Given the description of an element on the screen output the (x, y) to click on. 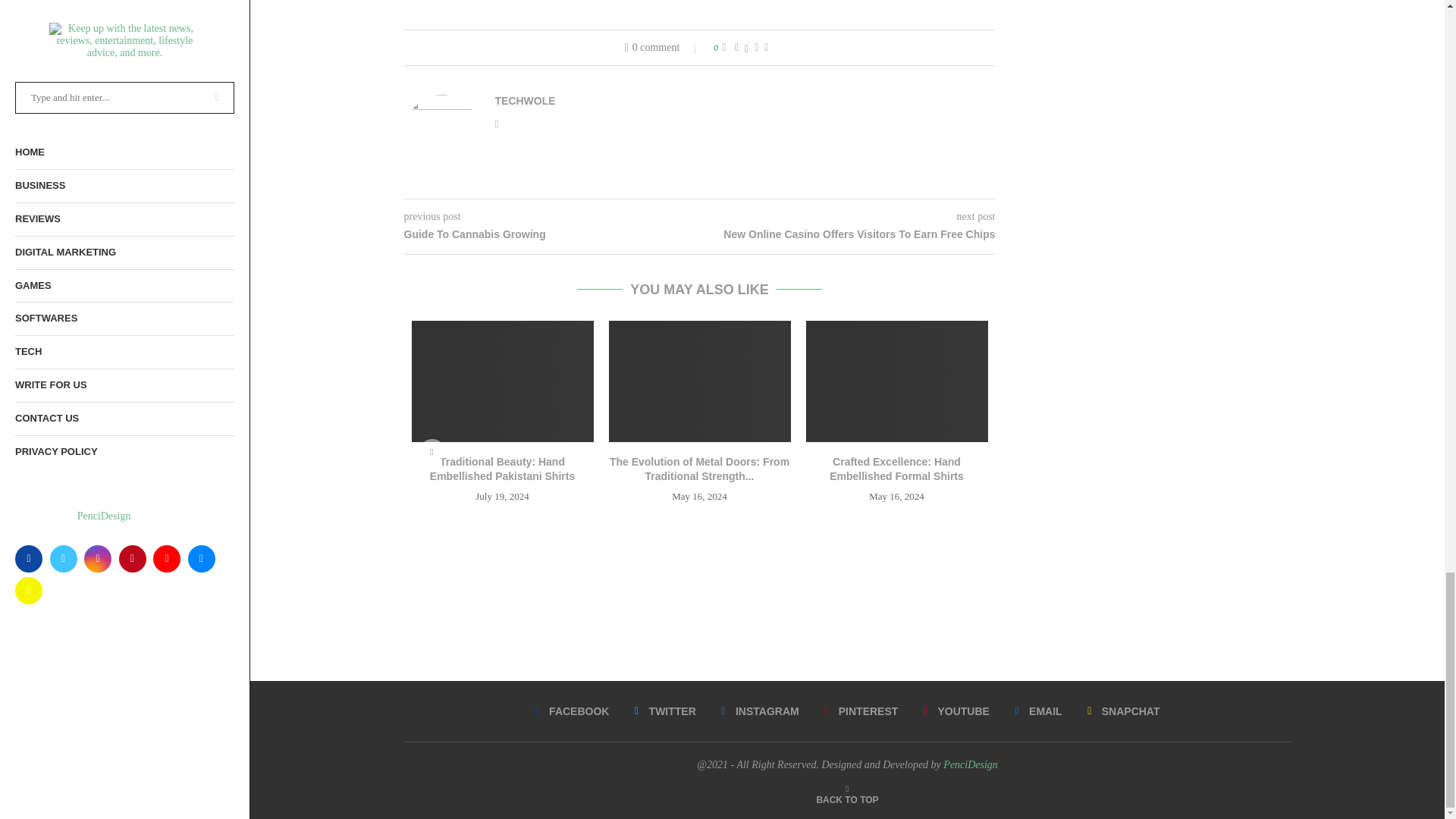
Crafted Excellence: Hand Embellished Formal Shirts (896, 381)
Guide To Cannabis Growing (550, 234)
Traditional Beauty: Hand Embellished Pakistani Shirts (501, 381)
The Evolution of Metal Doors: From Traditional Strength... (699, 469)
New Online Casino Offers Visitors To Earn Free Chips (846, 234)
Traditional Beauty: Hand Embellished Pakistani Shirts (502, 469)
Author techwole (524, 101)
TECHWOLE (524, 101)
